Given the description of an element on the screen output the (x, y) to click on. 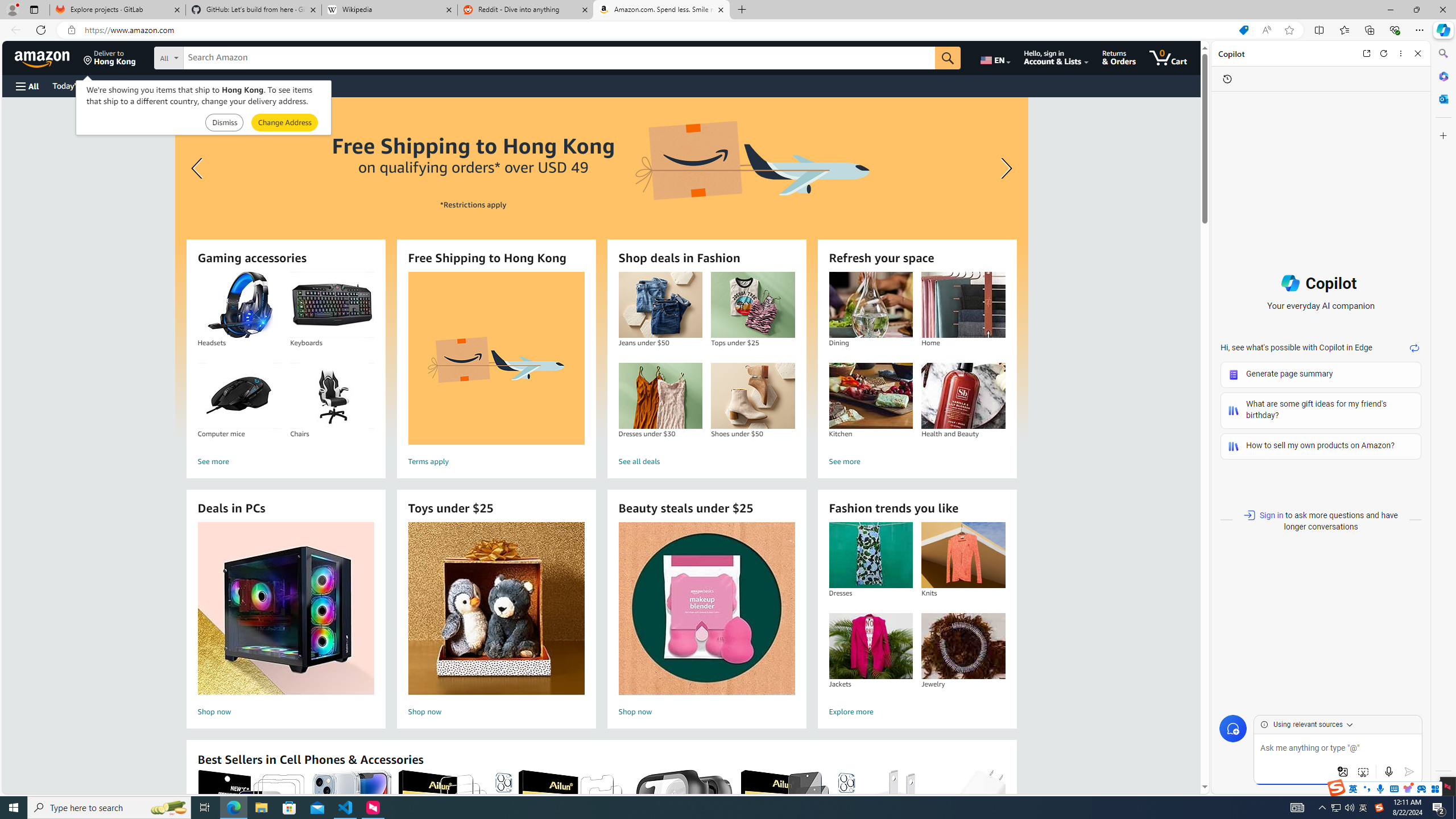
Toys under $25 (496, 608)
Amazon (43, 57)
Kitchen (870, 395)
Submit (284, 122)
Dining (870, 304)
Skip to main content (48, 56)
Returns & Orders (1119, 57)
